Given the description of an element on the screen output the (x, y) to click on. 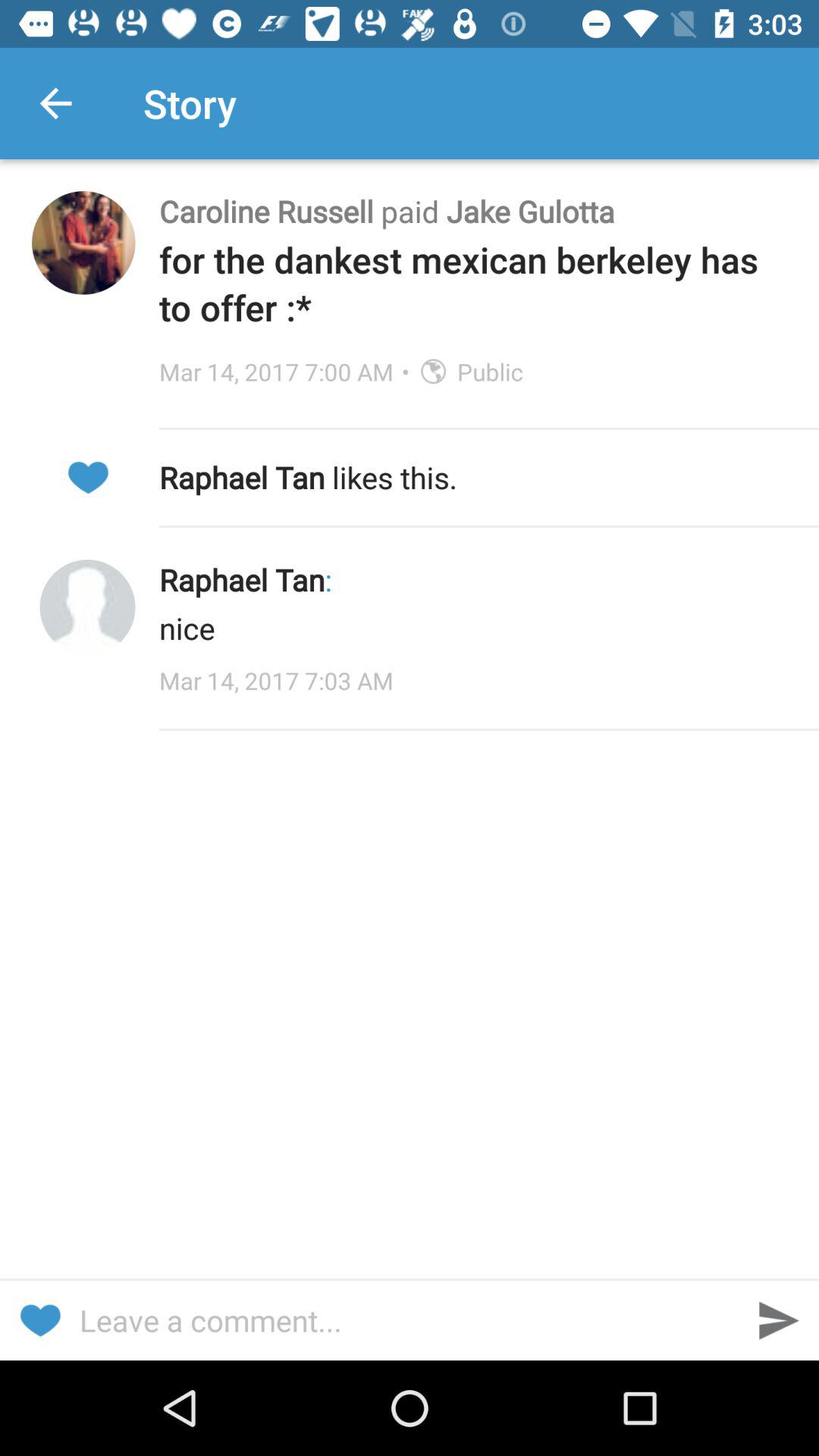
turn off the for the dankest (473, 283)
